Given the description of an element on the screen output the (x, y) to click on. 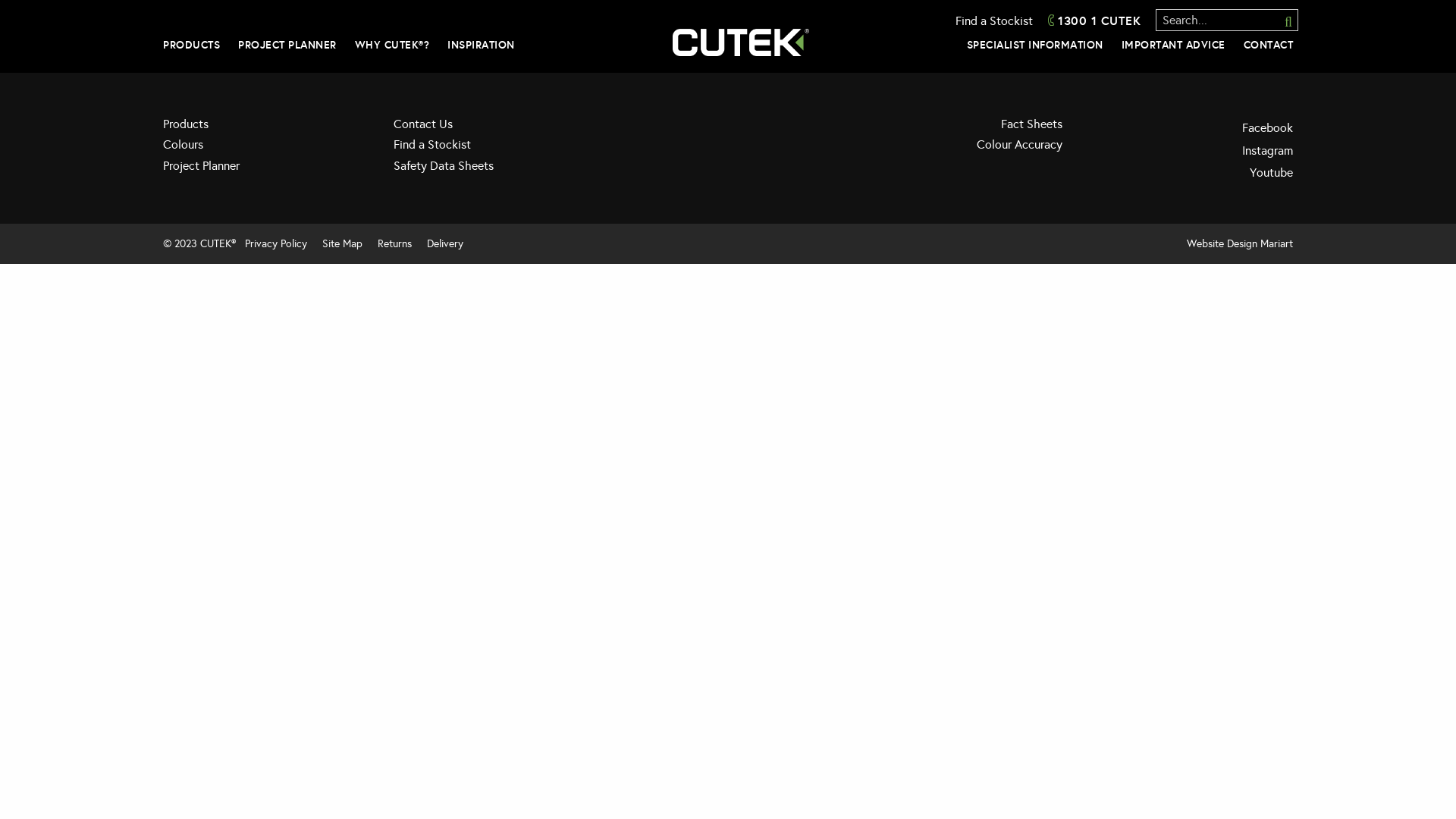
Search Element type: text (1280, 21)
Returns Element type: text (394, 243)
CONTACT Element type: text (1268, 44)
Instagram Element type: text (1188, 150)
Products Element type: text (266, 128)
Contact Us Element type: text (497, 128)
Privacy Policy Element type: text (275, 243)
Site Map Element type: text (342, 243)
PRODUCTS Element type: text (191, 44)
INSPIRATION Element type: text (480, 44)
SPECIALIST INFORMATION Element type: text (1034, 44)
IMPORTANT ADVICE Element type: text (1172, 44)
Colours Element type: text (266, 148)
Fact Sheets Element type: text (958, 128)
HOME Element type: text (739, 41)
Delivery Element type: text (444, 243)
PROJECT PLANNER Element type: text (287, 44)
Project Planner Element type: text (266, 170)
Youtube Element type: text (1188, 172)
Colour Accuracy Element type: text (958, 148)
Facebook Element type: text (1188, 128)
Find a Stockist Element type: text (497, 148)
Safety Data Sheets Element type: text (497, 170)
Find a Stockist Element type: text (993, 21)
1300 1 CUTEK Element type: text (1094, 19)
